Given the description of an element on the screen output the (x, y) to click on. 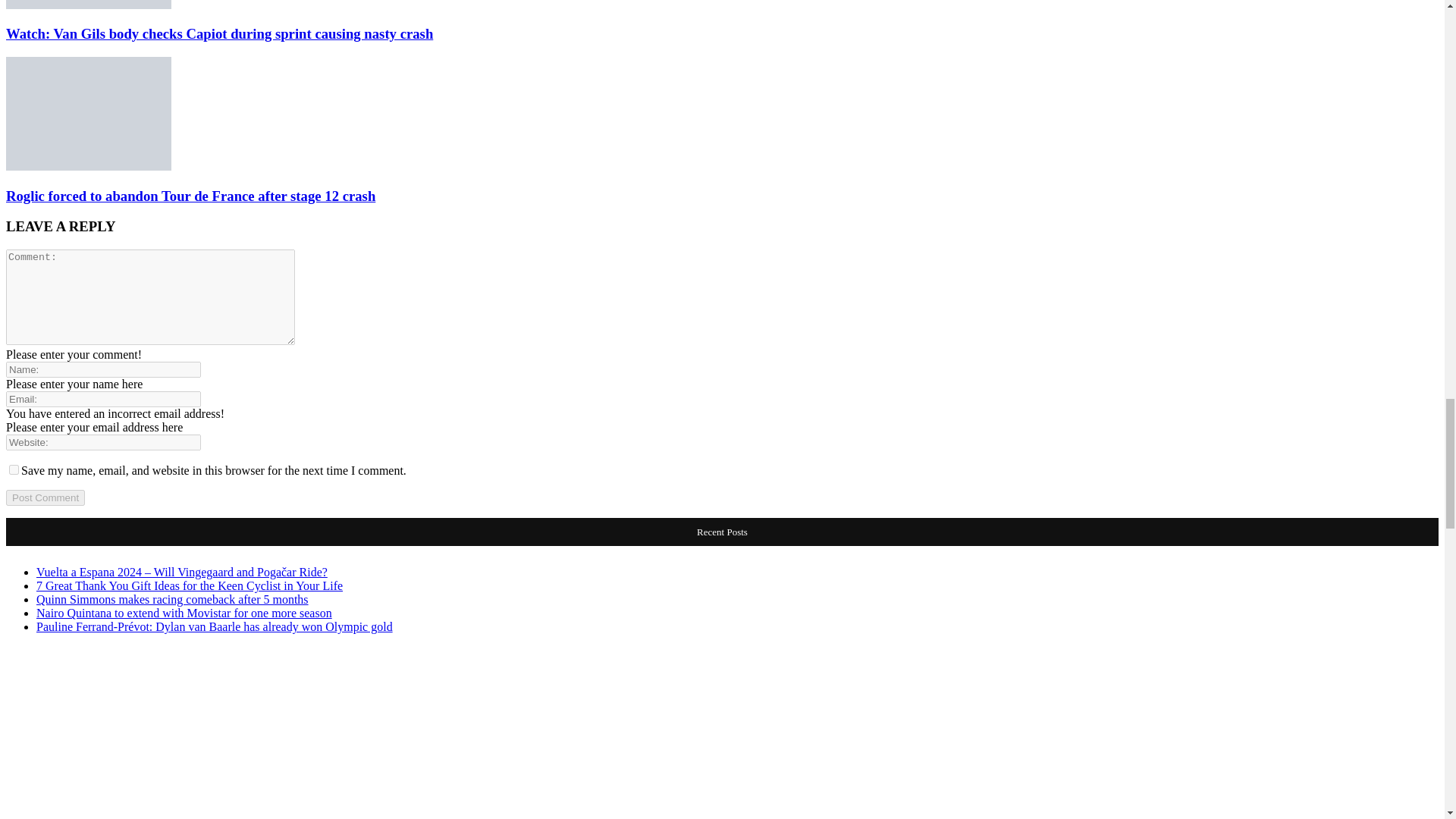
Post Comment (44, 497)
yes (13, 470)
